Given the description of an element on the screen output the (x, y) to click on. 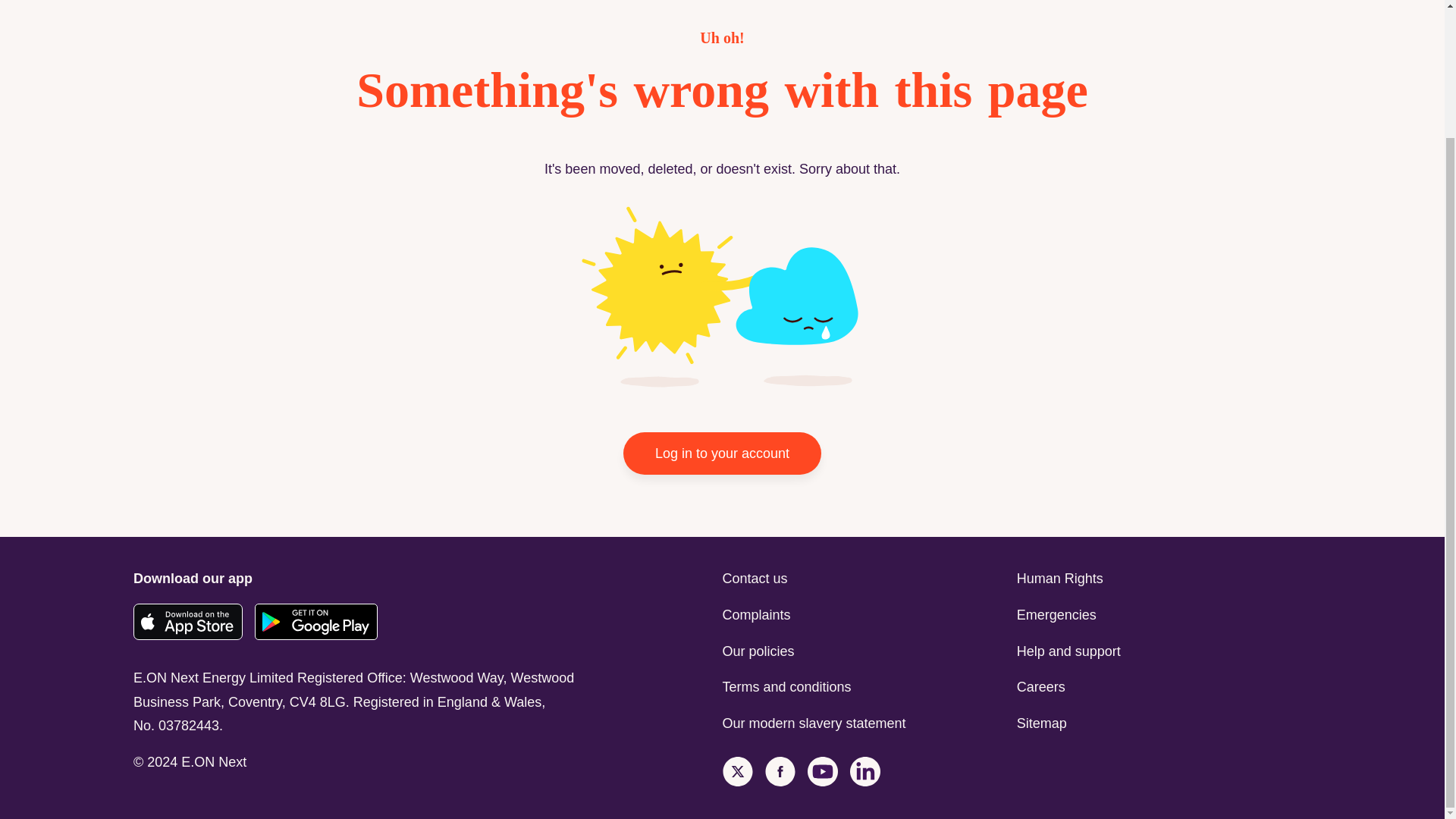
Twitter (737, 772)
Sitemap (1163, 723)
Contact us (865, 579)
App Store (188, 622)
LinkedIn (863, 772)
Human Rights (1163, 579)
Terms and conditions (865, 687)
Help and support (1163, 651)
Our policies (865, 651)
Our modern slavery statement (865, 723)
Complaints (865, 615)
Facebook (779, 772)
Log in to your account (722, 453)
Google Play (315, 622)
Youtube (821, 772)
